Given the description of an element on the screen output the (x, y) to click on. 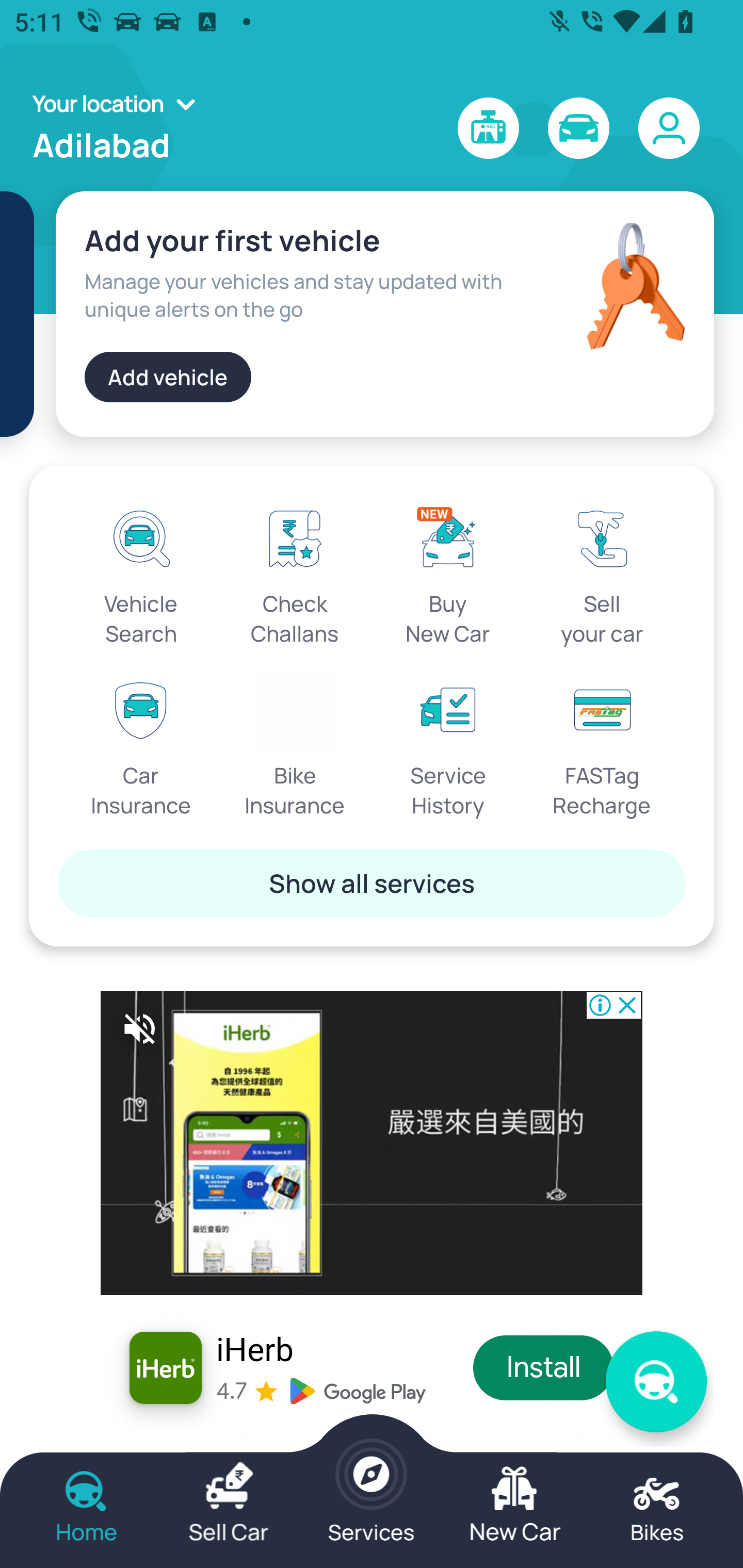
Your location Adilabad (119, 128)
Add vehicle (167, 376)
Vehicle
Search (141, 572)
Check
Challans (294, 572)
Buy
New Car (447, 572)
Sell
your car (601, 572)
Car
Insurance (141, 744)
Bike
Insurance (294, 744)
Service
History (447, 744)
FASTag Recharge (601, 744)
Show all services (371, 882)
Install (543, 1367)
